Given the description of an element on the screen output the (x, y) to click on. 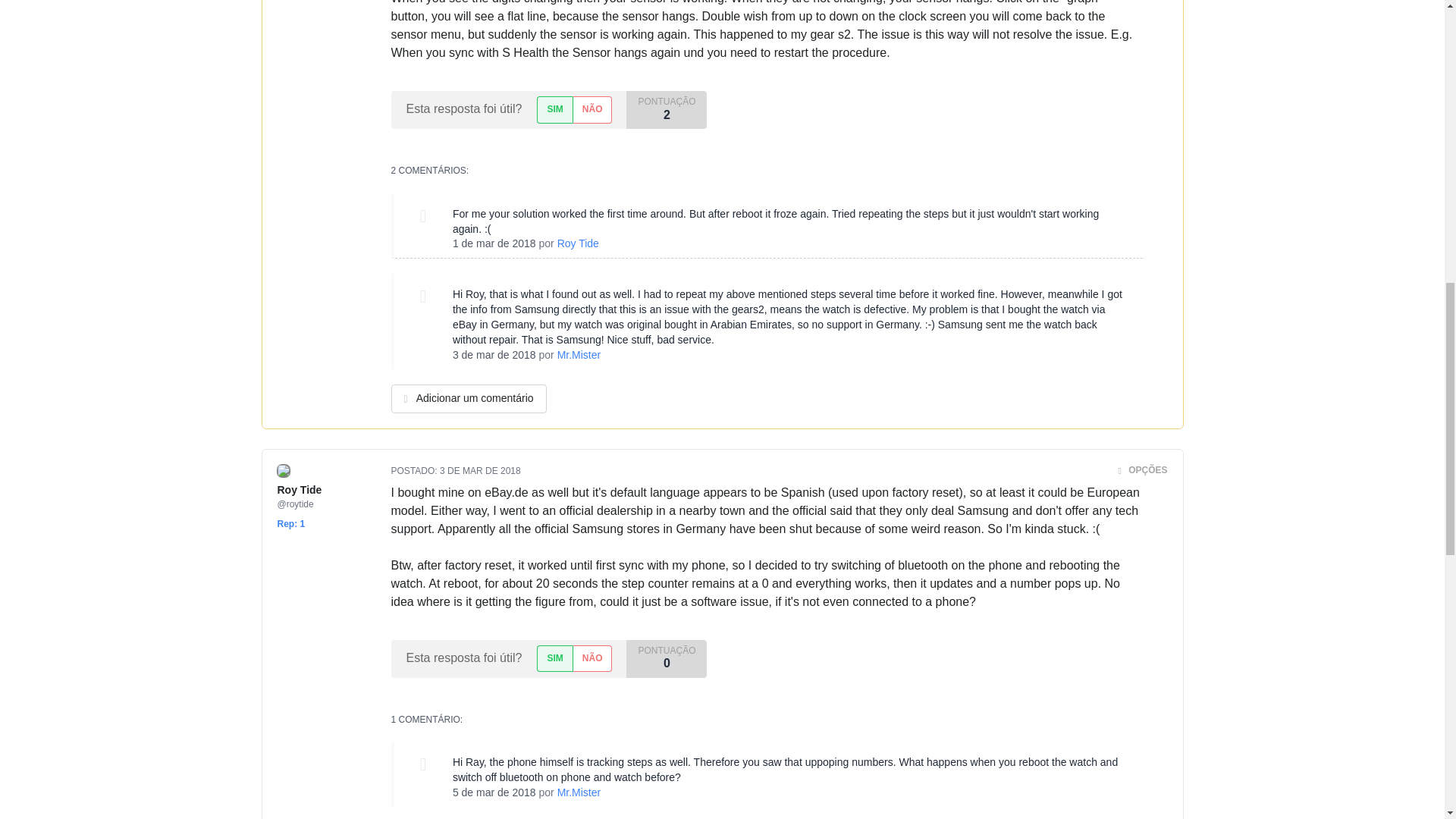
Mon, 05 Mar 2018 03:24:49 -0700 (493, 792)
Sat, 03 Mar 2018 12:07:28 -0700 (493, 354)
Thu, 01 Mar 2018 23:18:50 -0700 (493, 243)
Sat, 03 Mar 2018 19:57:03 -0700 (480, 470)
